Given the description of an element on the screen output the (x, y) to click on. 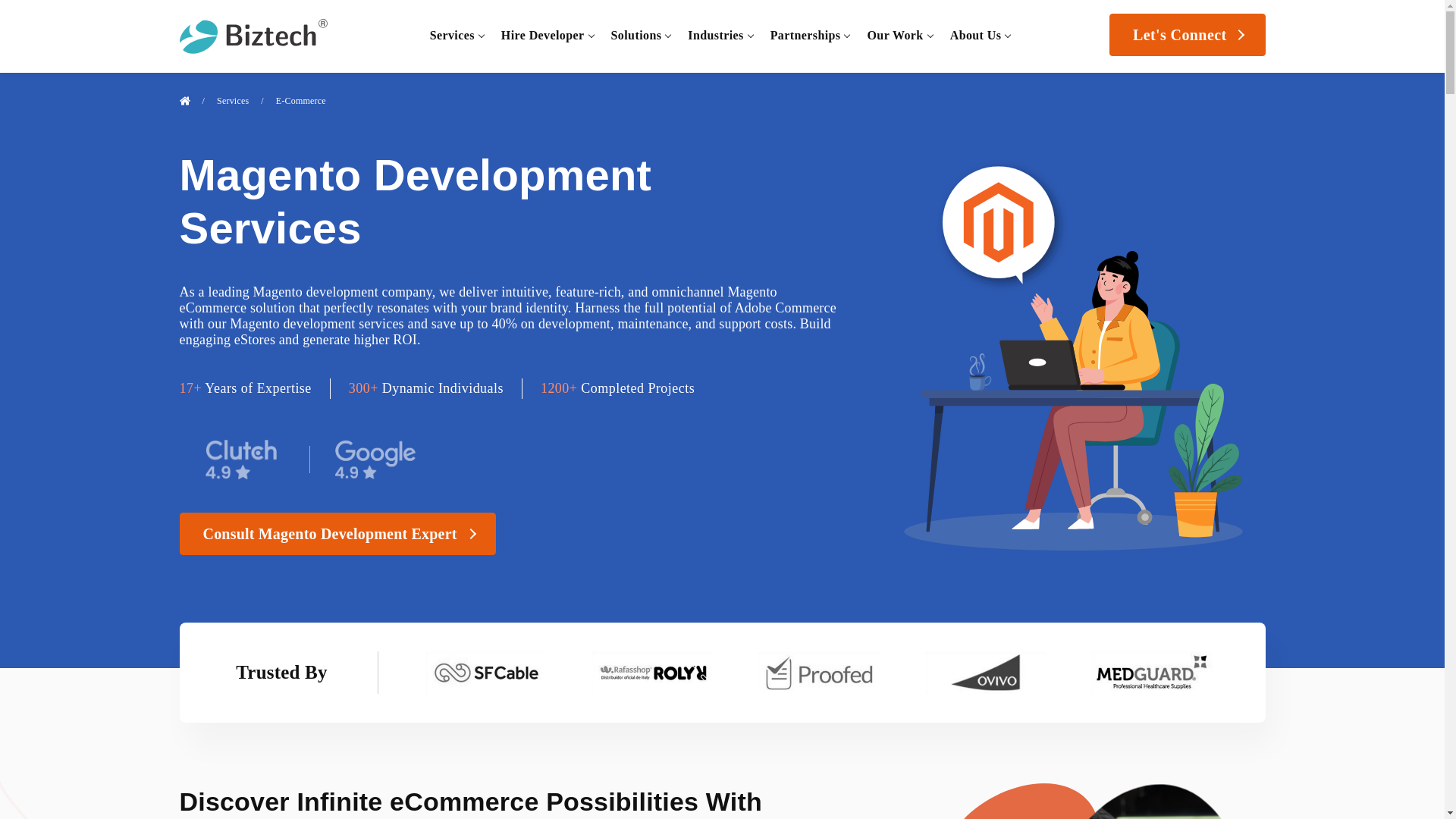
Services (451, 35)
Services (451, 35)
Home (184, 100)
